Given the description of an element on the screen output the (x, y) to click on. 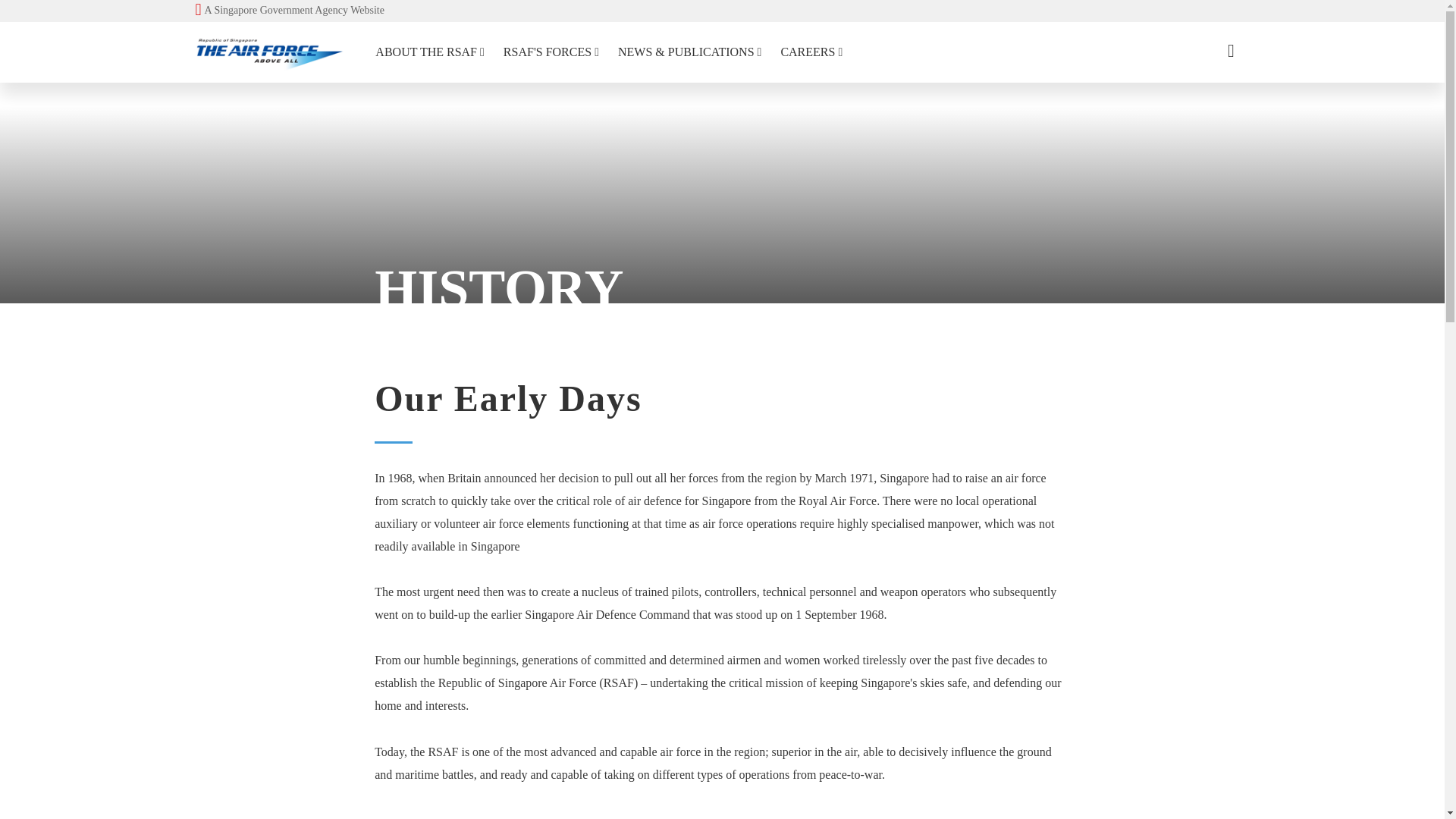
ABOUT THE RSAF (551, 52)
A Singapore Government Agency Website (429, 52)
CAREERS (289, 10)
A Singapore Government Agency Website (811, 52)
The Republic of Singapore Air force (289, 10)
